Given the description of an element on the screen output the (x, y) to click on. 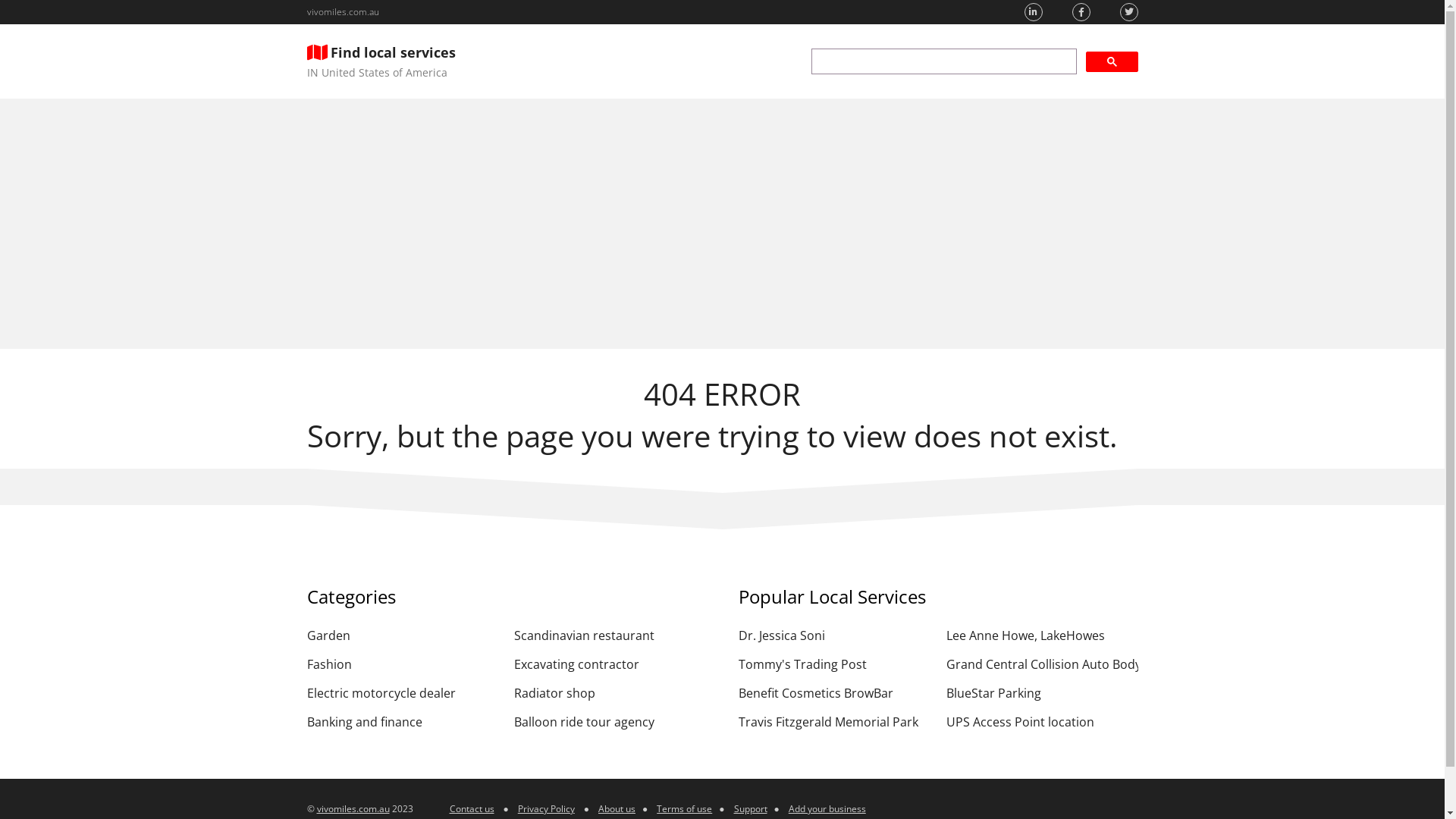
Travis Fitzgerald Memorial Park Element type: text (834, 721)
vivomiles.com.au Element type: text (342, 12)
Add your business Element type: text (827, 808)
Find local services
IN United States of America Element type: text (380, 61)
Advertisement Element type: hover (721, 223)
BlueStar Parking Element type: text (1042, 692)
Benefit Cosmetics BrowBar Element type: text (834, 692)
Banking and finance Element type: text (402, 721)
Balloon ride tour agency Element type: text (610, 721)
Lee Anne Howe, LakeHowes Element type: text (1042, 635)
Excavating contractor Element type: text (610, 663)
Radiator shop Element type: text (610, 692)
Privacy Policy Element type: text (545, 808)
Dr. Jessica Soni Element type: text (834, 635)
Terms of use Element type: text (684, 808)
Support Element type: text (750, 808)
Grand Central Collision Auto Body Repair Element type: text (1042, 663)
Scandinavian restaurant Element type: text (610, 635)
search Element type: hover (943, 61)
UPS Access Point location Element type: text (1042, 721)
Garden Element type: text (402, 635)
Electric motorcycle dealer Element type: text (402, 692)
Tommy's Trading Post Element type: text (834, 663)
vivomiles.com.au Element type: text (352, 808)
Contact us Element type: text (470, 808)
Fashion Element type: text (402, 663)
About us Element type: text (616, 808)
